Given the description of an element on the screen output the (x, y) to click on. 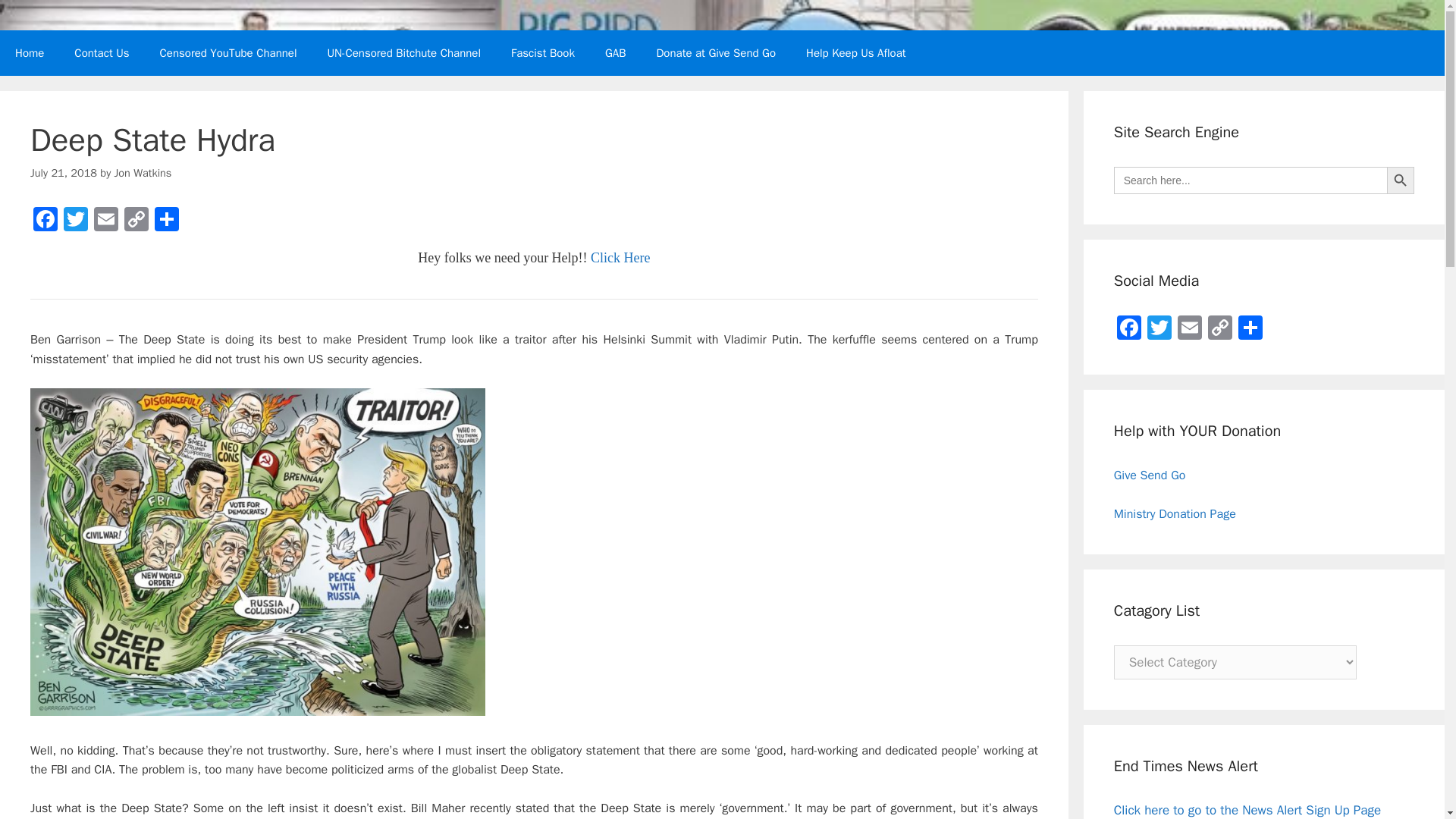
Contact Us (101, 53)
Home (29, 53)
Twitter (75, 221)
Censored YouTube Channel (228, 53)
Copy Link (135, 221)
A great alternitive to Twitter (615, 53)
Twitter (75, 221)
Donate at Give Send Go (715, 53)
Fascist Book (542, 53)
GAB (615, 53)
Ministry Video channel (404, 53)
Facebook (45, 221)
Help Keep Us Afloat (855, 53)
Click Here (620, 257)
UN-Censored Bitchute Channel (404, 53)
